Given the description of an element on the screen output the (x, y) to click on. 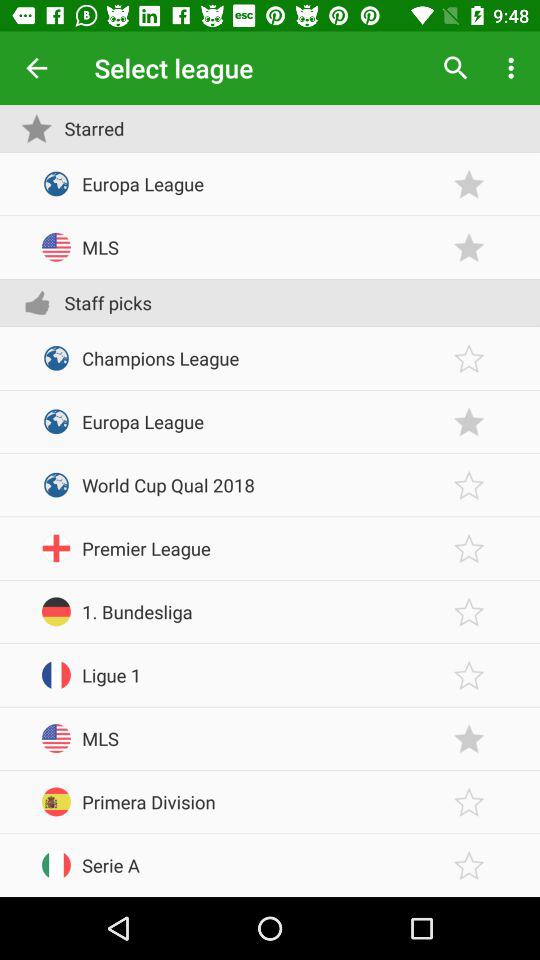
open item next to the select league (455, 68)
